Given the description of an element on the screen output the (x, y) to click on. 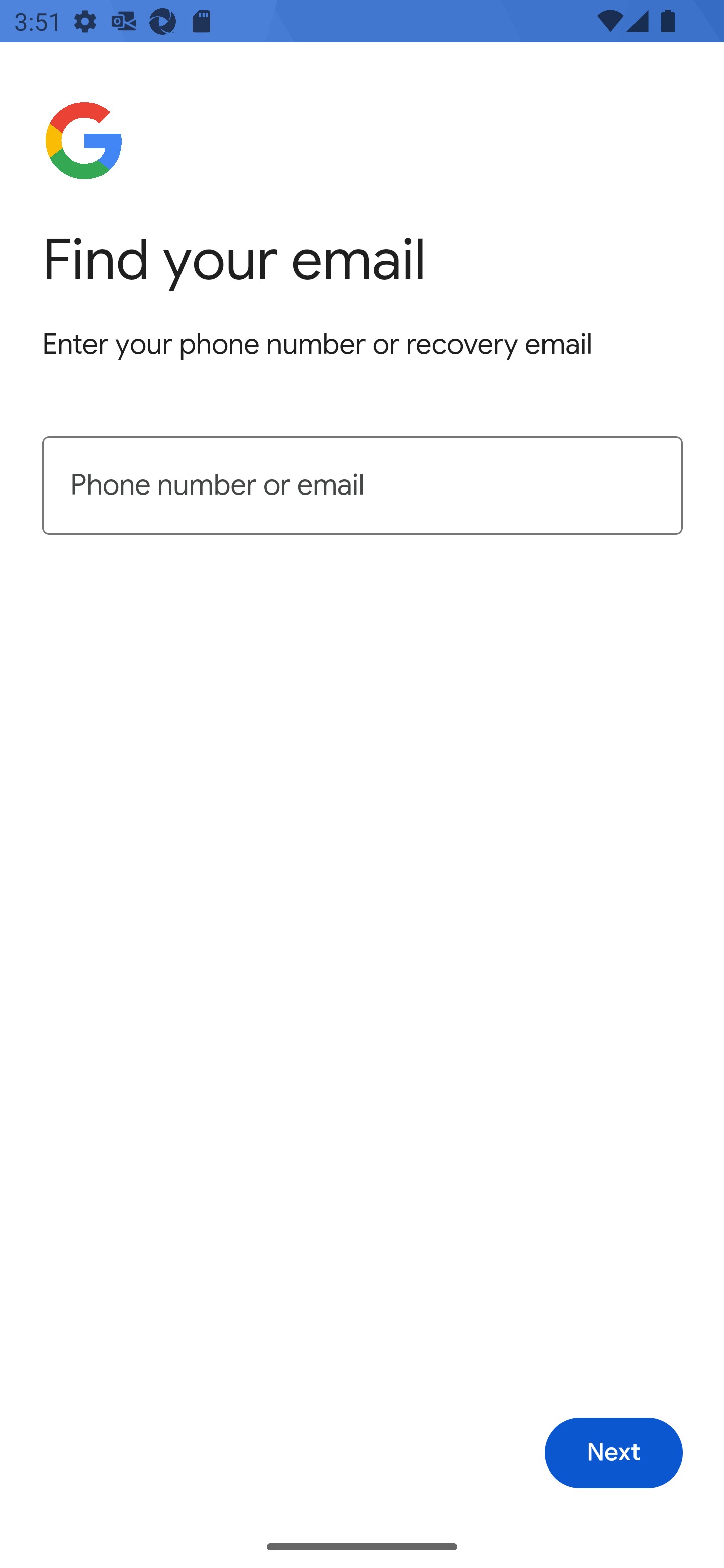
Next (613, 1453)
